Given the description of an element on the screen output the (x, y) to click on. 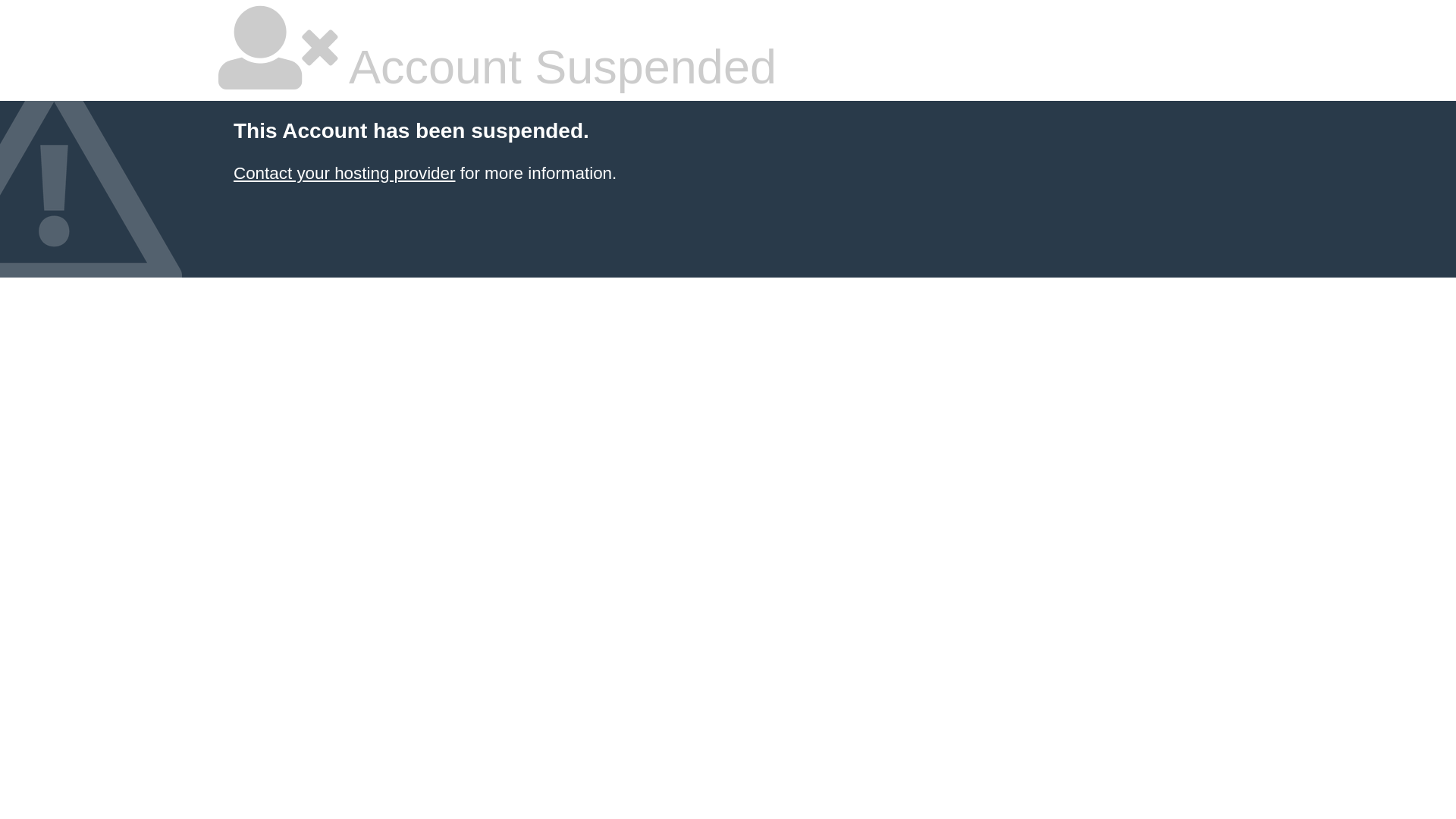
Contact your hosting provider Element type: text (344, 172)
